Given the description of an element on the screen output the (x, y) to click on. 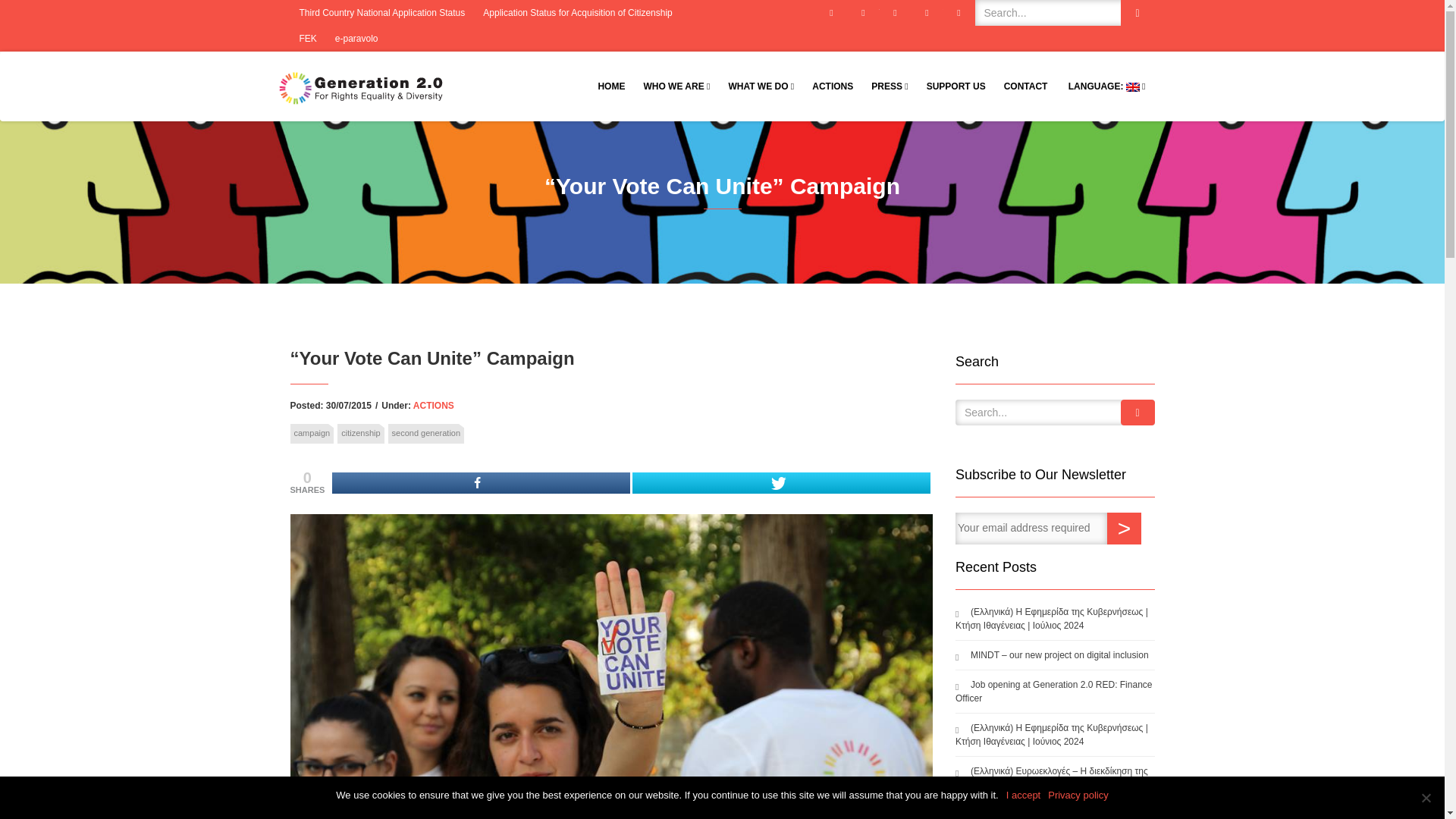
Search for: (1064, 12)
Application Status for Acquisition of Citizenship (577, 12)
Youtube (927, 12)
Linkedin (959, 12)
Facebook (831, 12)
Twitter (863, 12)
Who we are (676, 86)
Third Country National Application Status (381, 12)
FEK (306, 38)
Instagram (895, 12)
WHAT WE DO (761, 86)
WHO WE ARE (676, 86)
e-paravolo (356, 38)
